Given the description of an element on the screen output the (x, y) to click on. 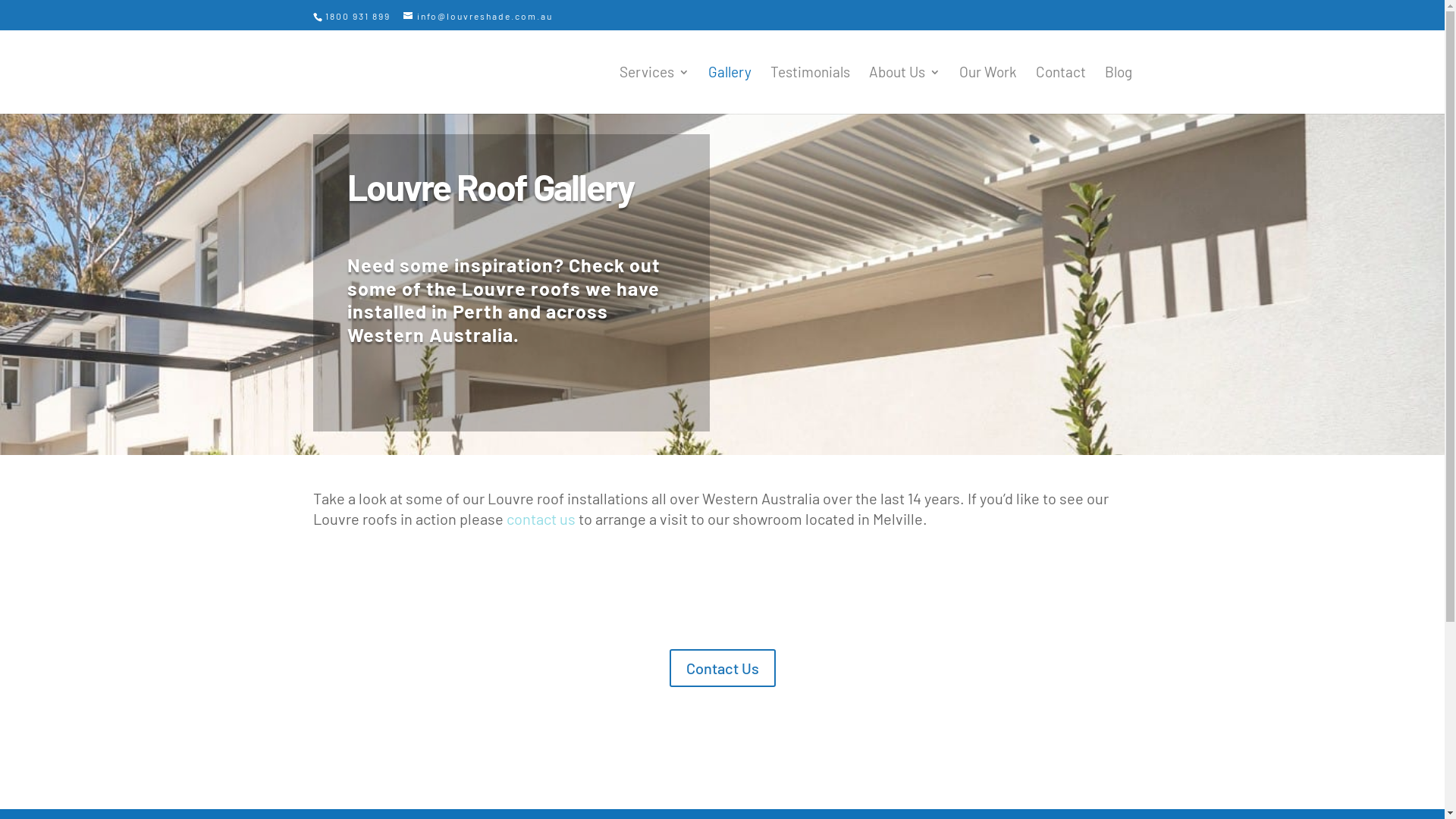
Contact Us Element type: text (721, 668)
About Us Element type: text (904, 89)
Contact Element type: text (1060, 89)
Services Element type: text (653, 89)
Gallery Element type: text (729, 89)
Our Work Element type: text (987, 89)
info@louvreshade.com.au Element type: text (477, 15)
contact us Element type: text (540, 518)
Blog Element type: text (1117, 89)
Testimonials Element type: text (810, 89)
